Given the description of an element on the screen output the (x, y) to click on. 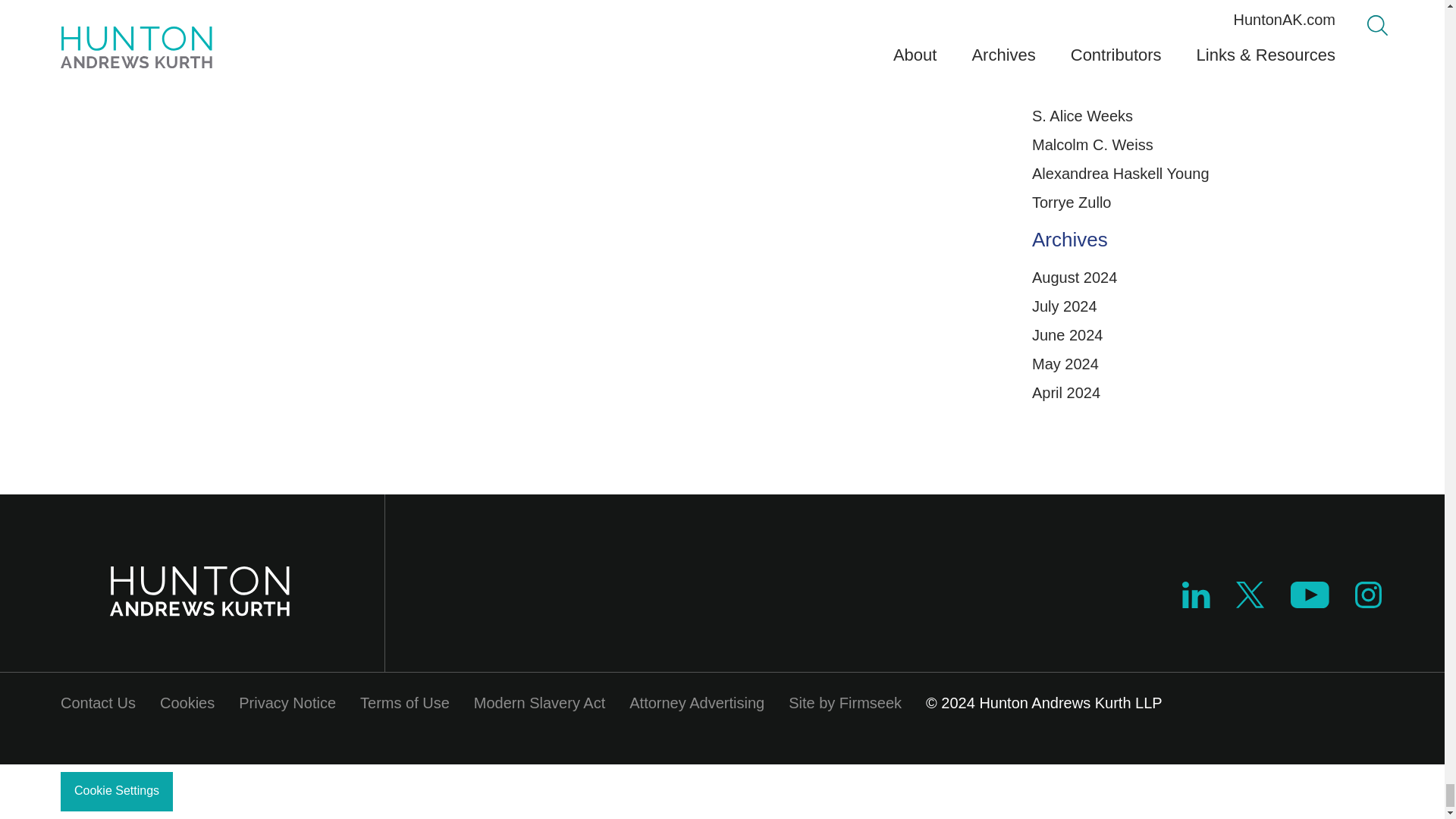
Instagram (1368, 594)
Youtube (1309, 602)
X (1250, 602)
Youtube (1309, 594)
Instagram (1369, 602)
Linkedin (1195, 602)
Linkedin (1195, 594)
